Given the description of an element on the screen output the (x, y) to click on. 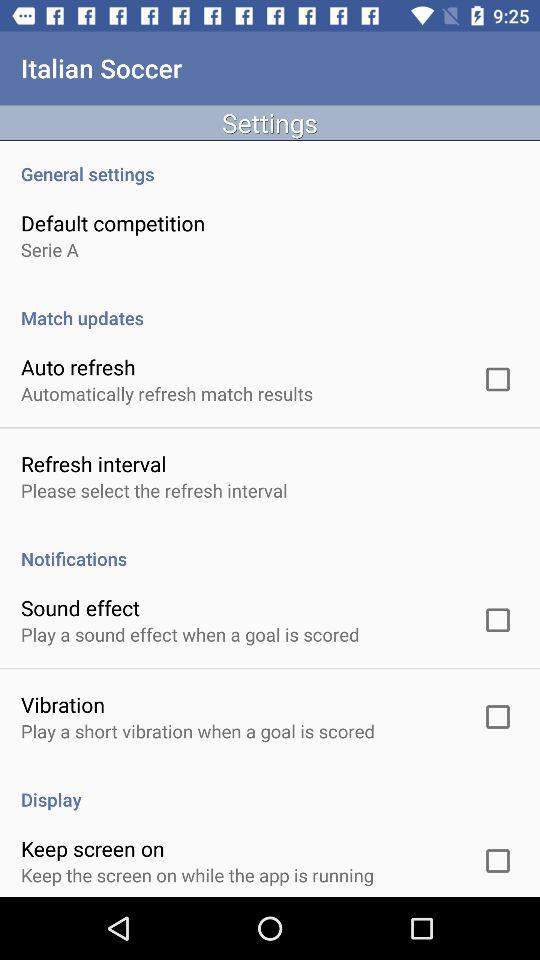
turn on app above default competition icon (270, 163)
